Given the description of an element on the screen output the (x, y) to click on. 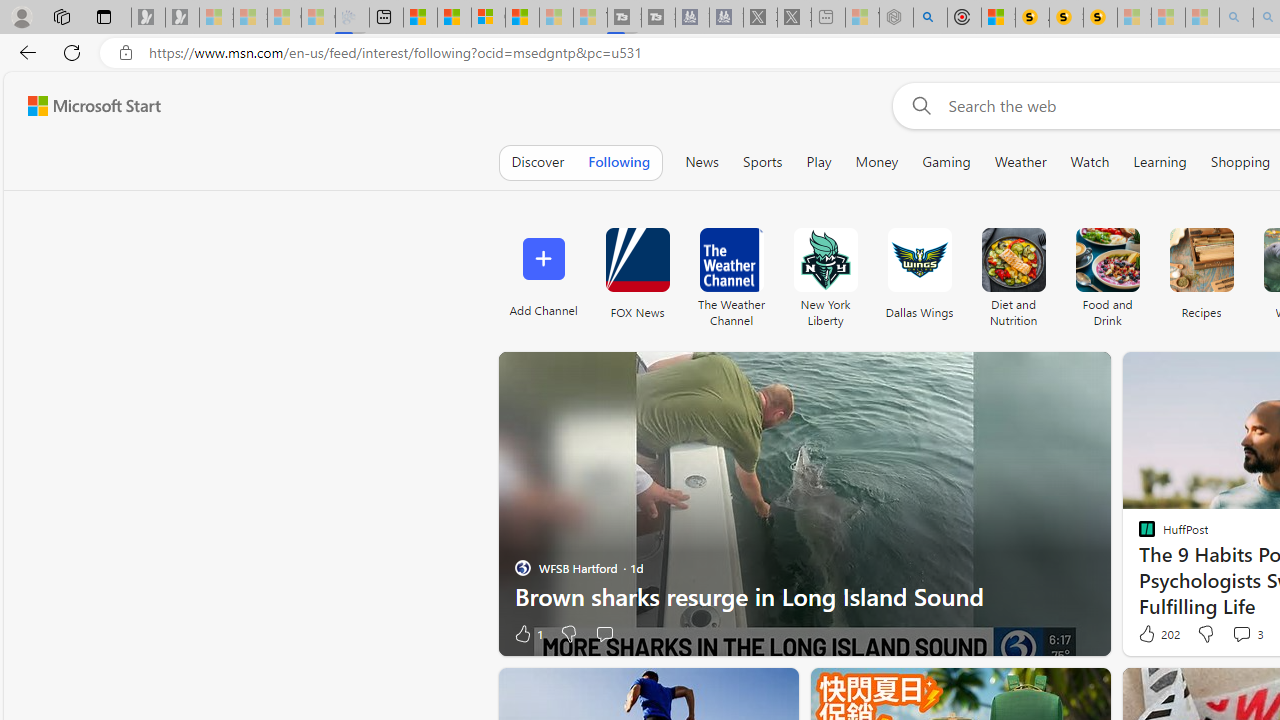
Hide this story (738, 691)
202 Like (1157, 633)
Add Channel (542, 272)
View comments 3 Comment (1241, 633)
1 Like (527, 633)
